Given the description of an element on the screen output the (x, y) to click on. 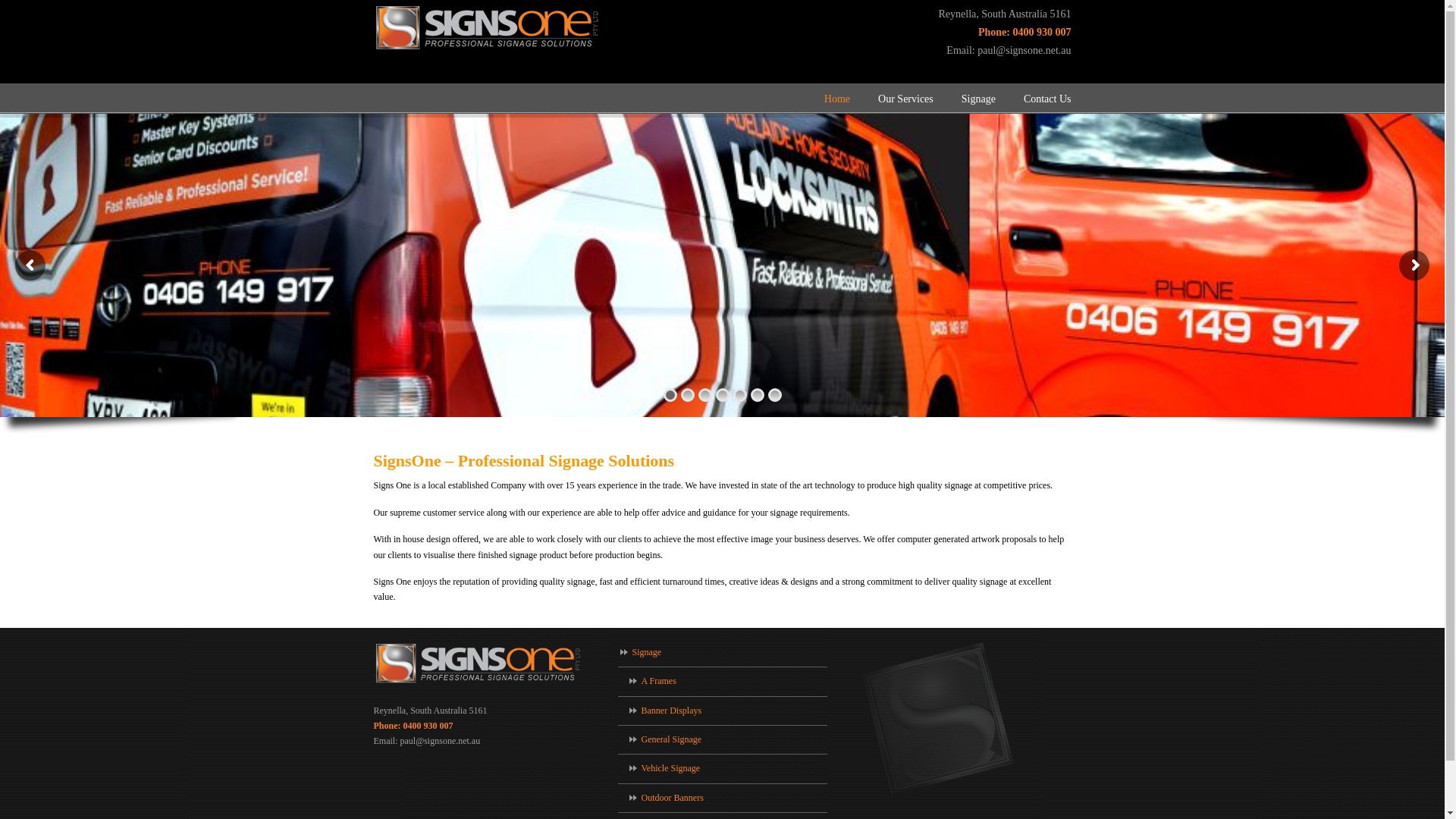
Signage Element type: text (721, 652)
Outdoor Banners Element type: text (721, 798)
signsone.net.au Element type: text (486, 27)
General Signage Element type: text (721, 739)
Banner Displays Element type: text (721, 710)
A Frames Element type: text (721, 681)
Our Services Element type: text (905, 99)
Vehicle Signage Element type: text (721, 768)
Contact Us Element type: text (1047, 99)
Signage Element type: text (978, 99)
Home Element type: text (837, 99)
